Given the description of an element on the screen output the (x, y) to click on. 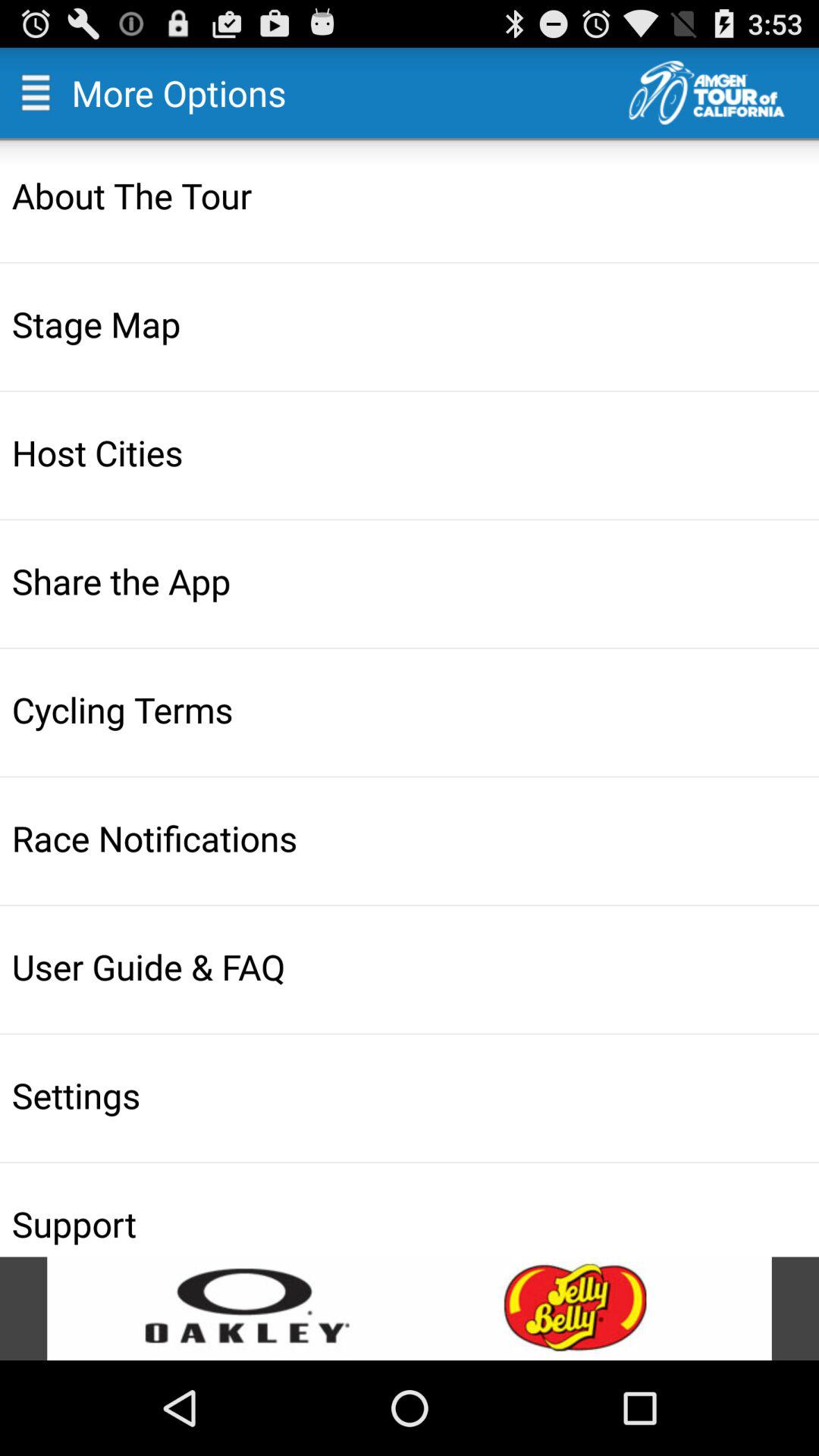
jump to about the tour icon (411, 194)
